Given the description of an element on the screen output the (x, y) to click on. 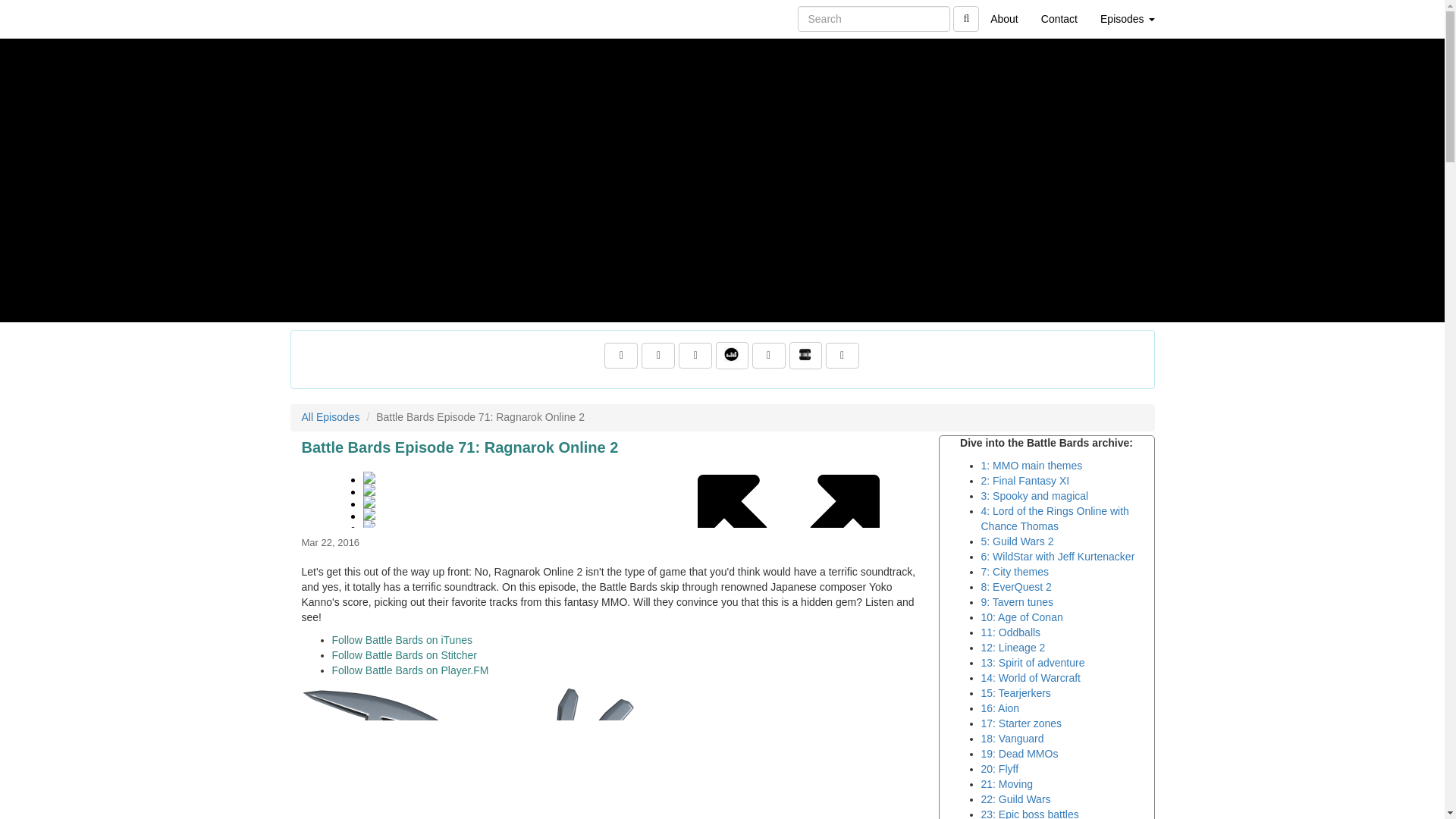
About (1003, 18)
Contact (1059, 18)
Battle Bards Episode 71: Ragnarok Online 2 (614, 493)
Episodes (1127, 18)
Home Page (320, 18)
